Given the description of an element on the screen output the (x, y) to click on. 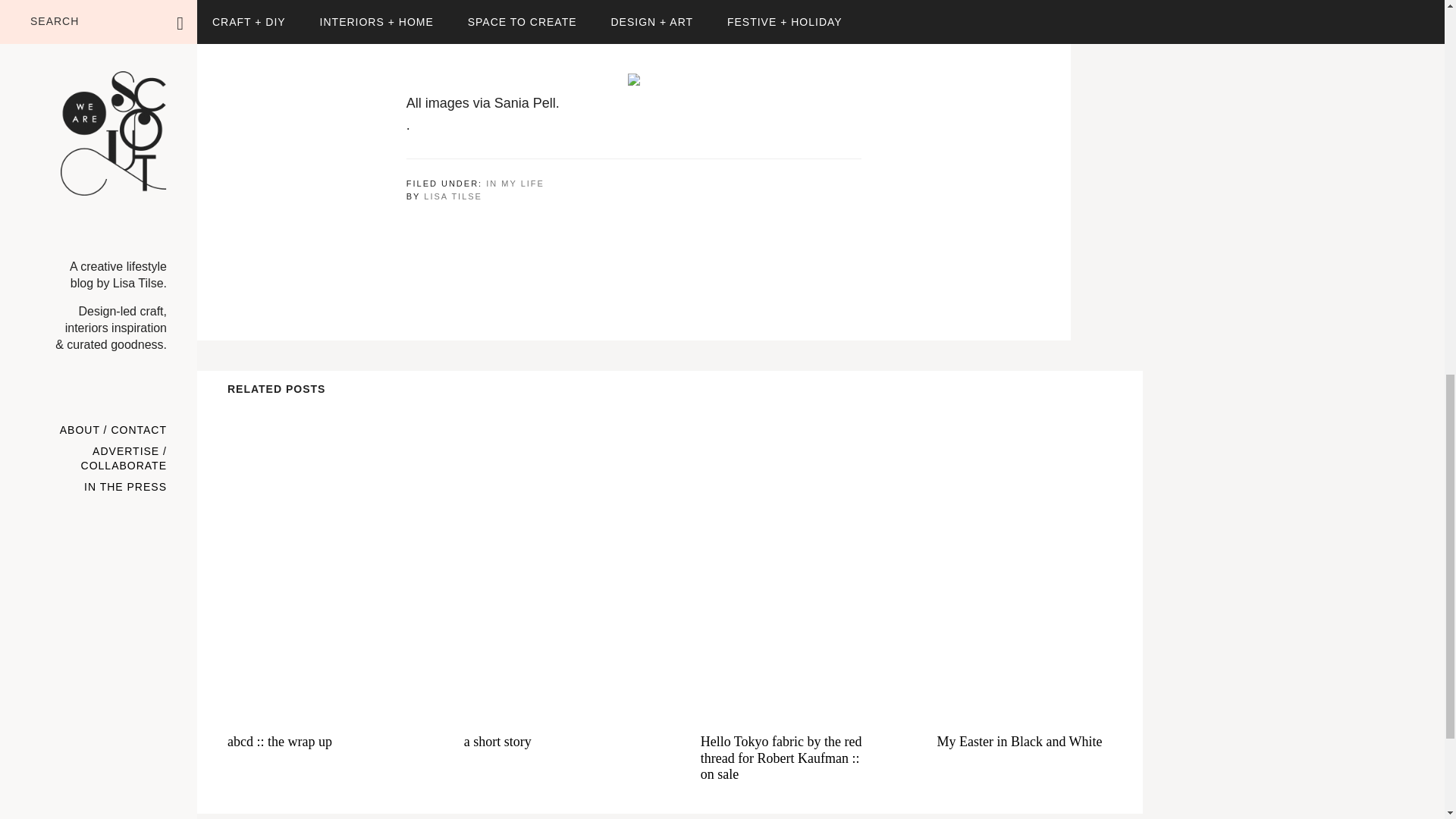
Permanent Link toabcd :: the wrap up (314, 559)
Permanent Link toMy Easter in Black and White (1023, 559)
Permanent Link toMy Easter in Black and White (1023, 742)
Permanent Link toa short story (551, 559)
Permanent Link toabcd :: the wrap up (314, 742)
Permanent Link toa short story (551, 742)
